Given the description of an element on the screen output the (x, y) to click on. 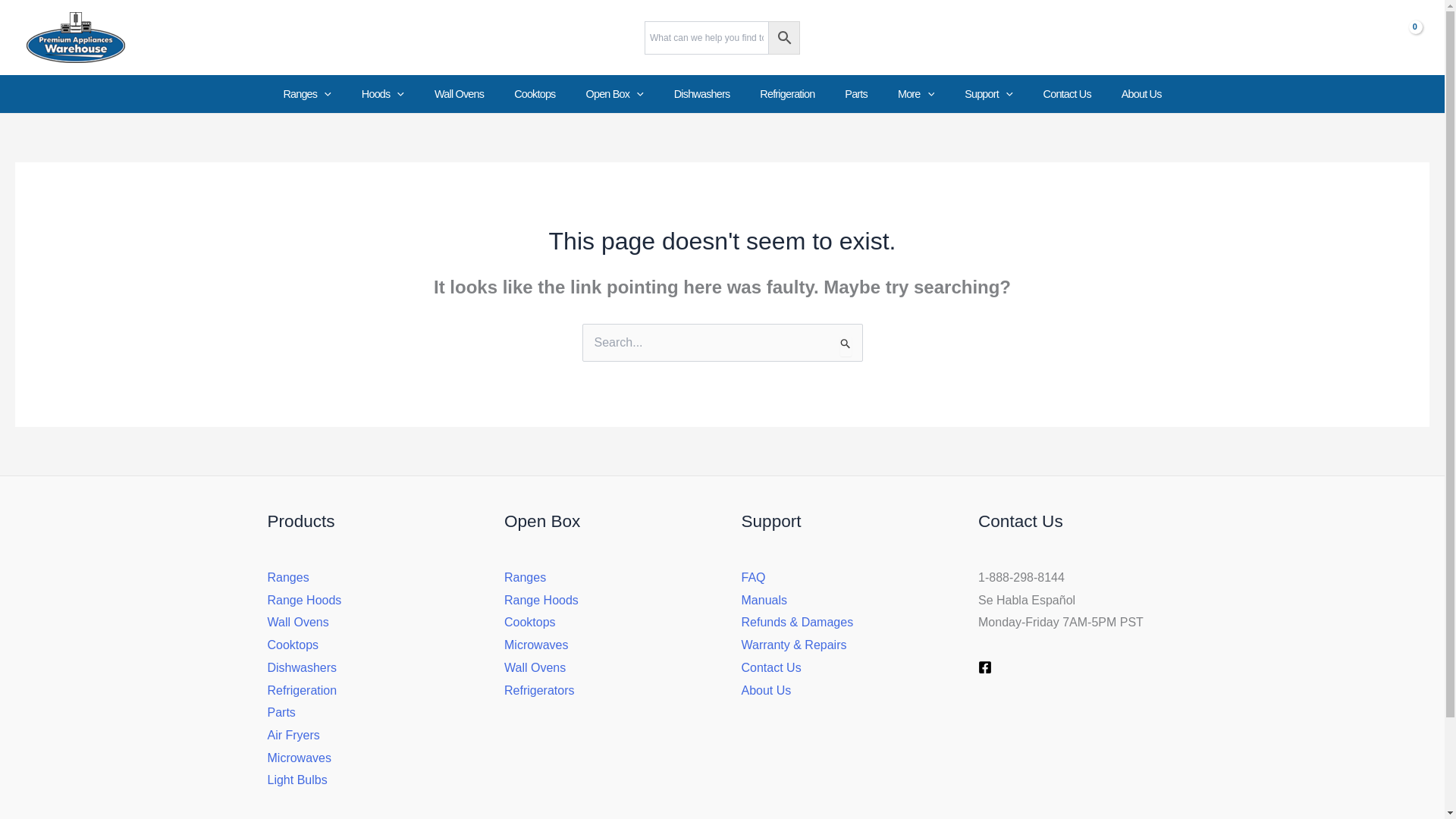
Wall Ovens (459, 94)
Dishwashers (702, 94)
Cooktops (534, 94)
More (915, 94)
Open Box (614, 94)
Refrigeration (786, 94)
Hoods (382, 94)
Support (988, 94)
Parts (855, 94)
Ranges (306, 94)
